Given the description of an element on the screen output the (x, y) to click on. 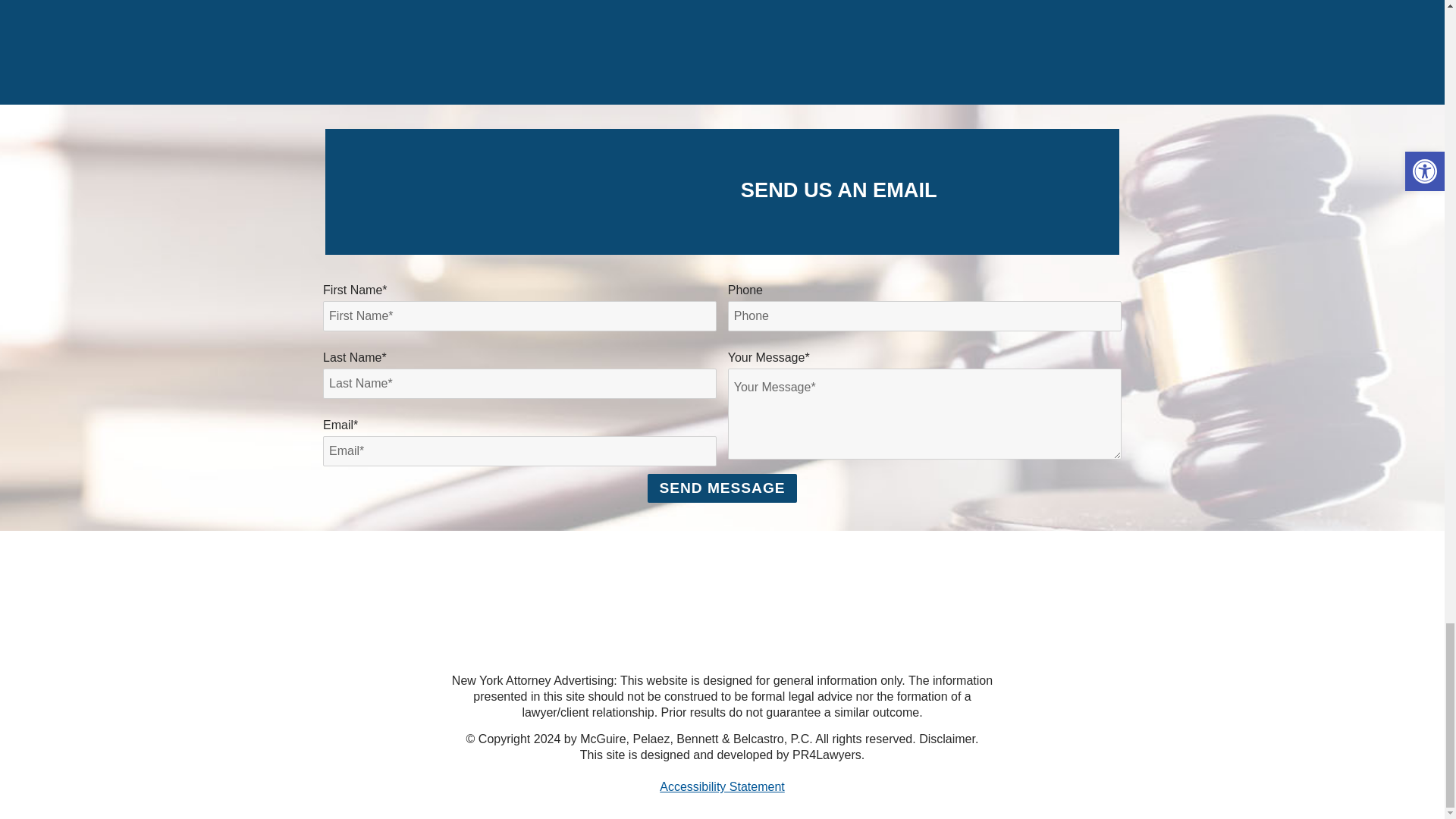
Send Message (721, 488)
